Given the description of an element on the screen output the (x, y) to click on. 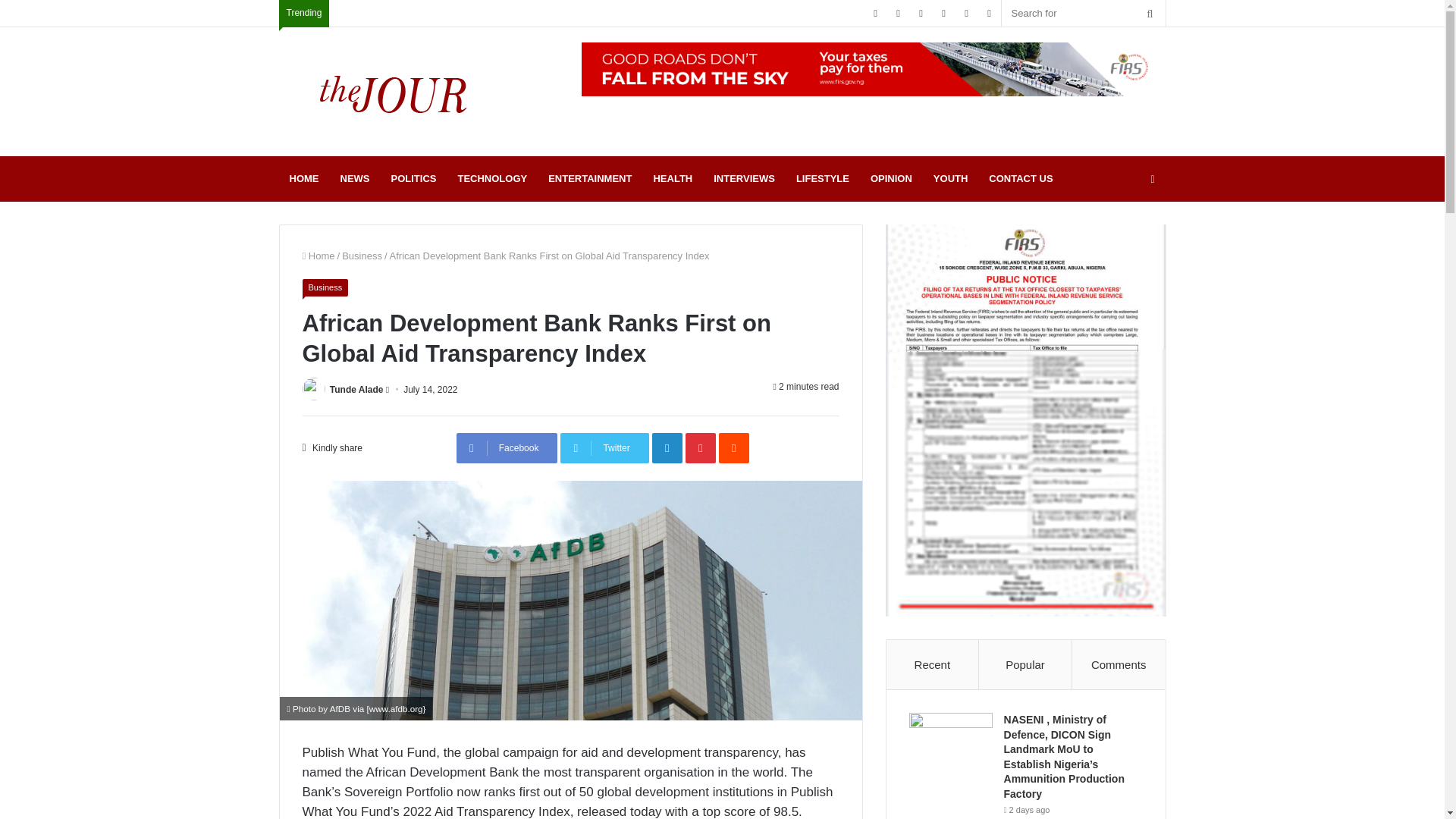
YOUTH (950, 178)
Business (324, 287)
Business (361, 255)
Tunde Alade (357, 389)
CONTACT US (1020, 178)
OPINION (891, 178)
The Jour (392, 91)
POLITICS (413, 178)
NEWS (354, 178)
ENTERTAINMENT (589, 178)
